Given the description of an element on the screen output the (x, y) to click on. 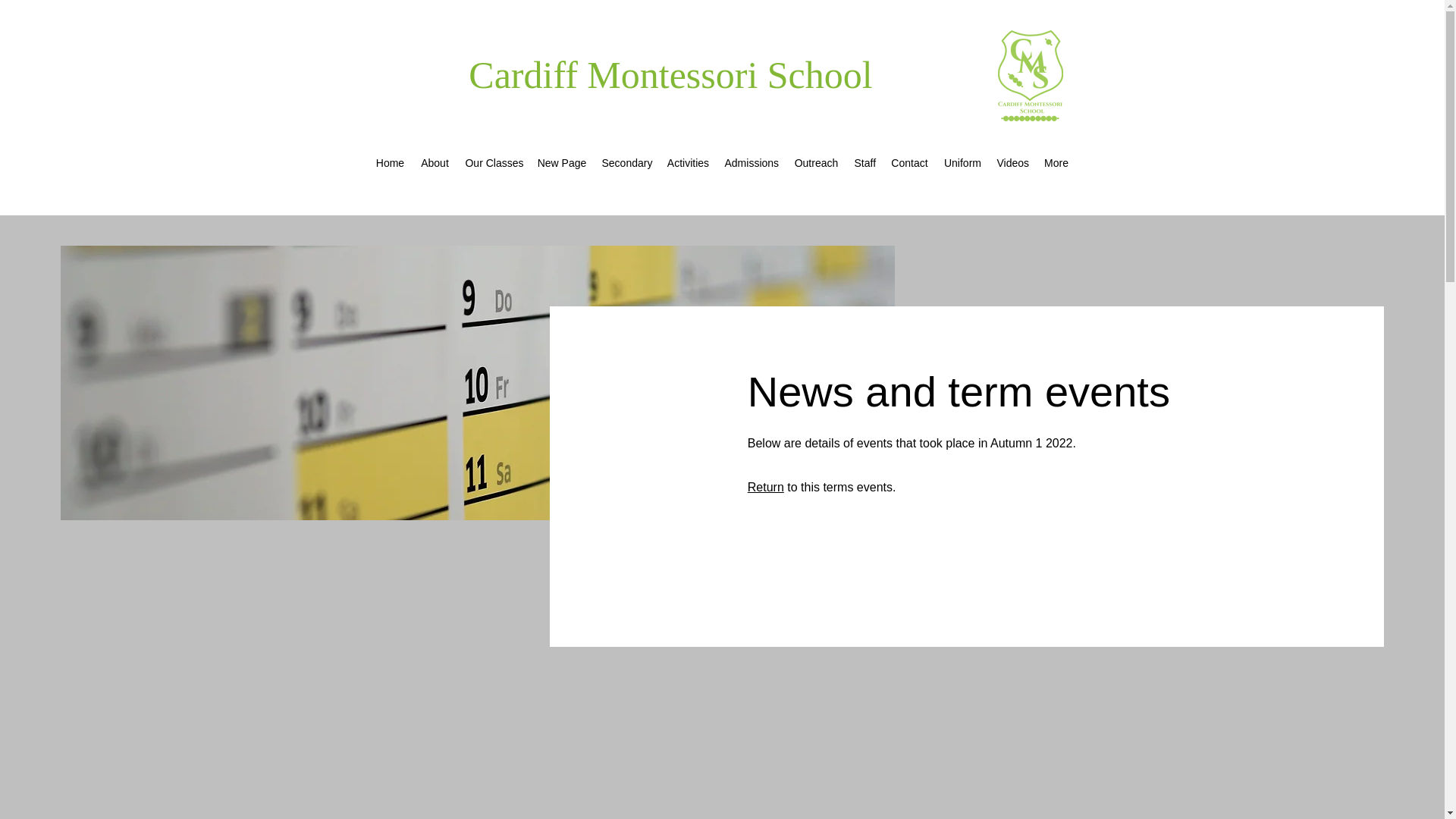
Return (766, 486)
Home (390, 162)
Uniform (962, 162)
Videos (1011, 162)
Secondary (626, 162)
About (434, 162)
Our Classes (493, 162)
New Page (561, 162)
Staff (863, 162)
Activities (687, 162)
Outreach (815, 162)
Admissions (751, 162)
Contact (909, 162)
